Given the description of an element on the screen output the (x, y) to click on. 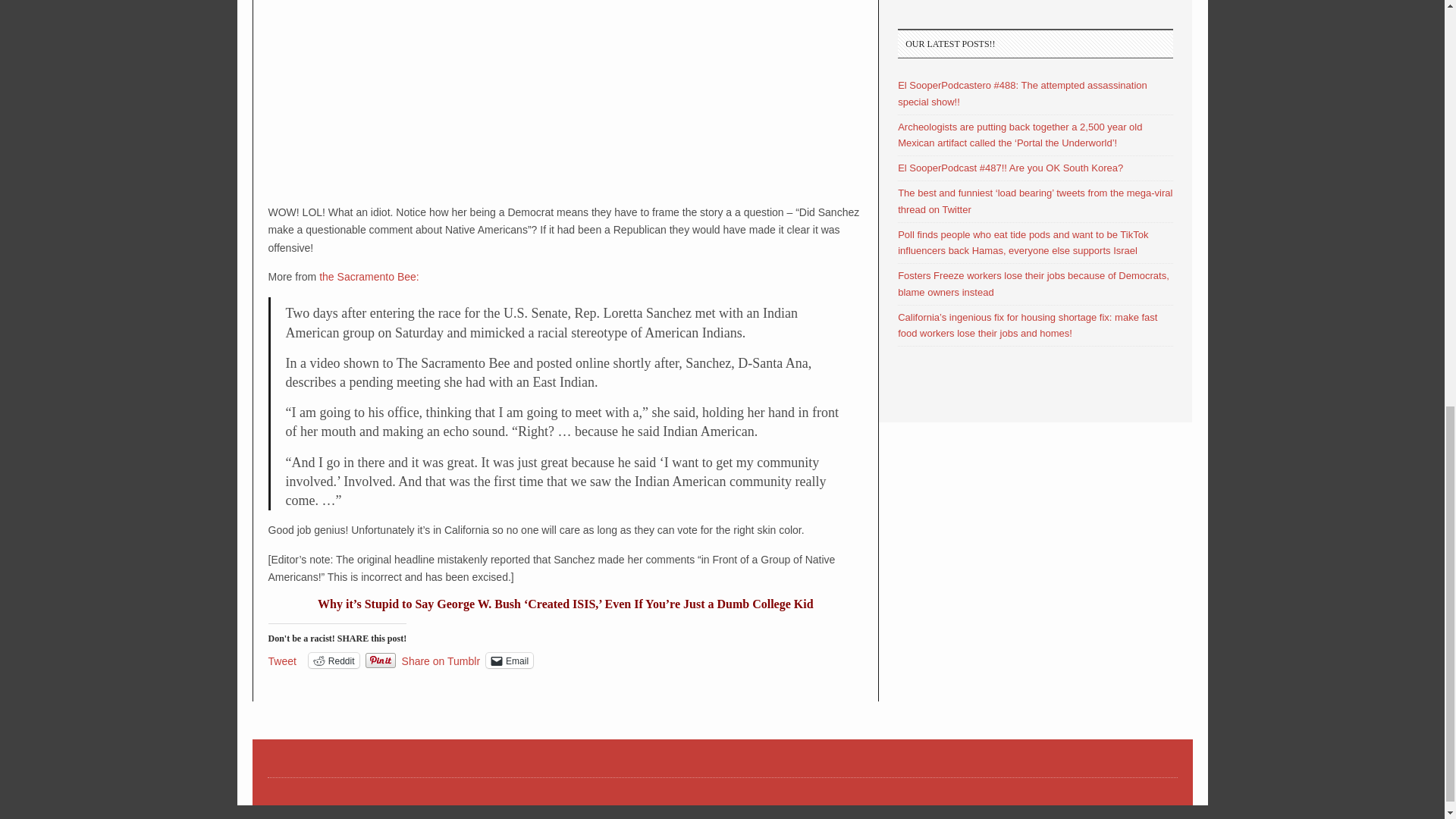
the Sacramento Bee: (368, 276)
Share on Tumblr (440, 659)
OUR LATEST POSTS!! (1035, 43)
Tweet (282, 659)
Reddit (333, 660)
Click to email a link to a friend (509, 660)
Click to share on Reddit (333, 660)
Email (509, 660)
Share on Tumblr (440, 659)
